Given the description of an element on the screen output the (x, y) to click on. 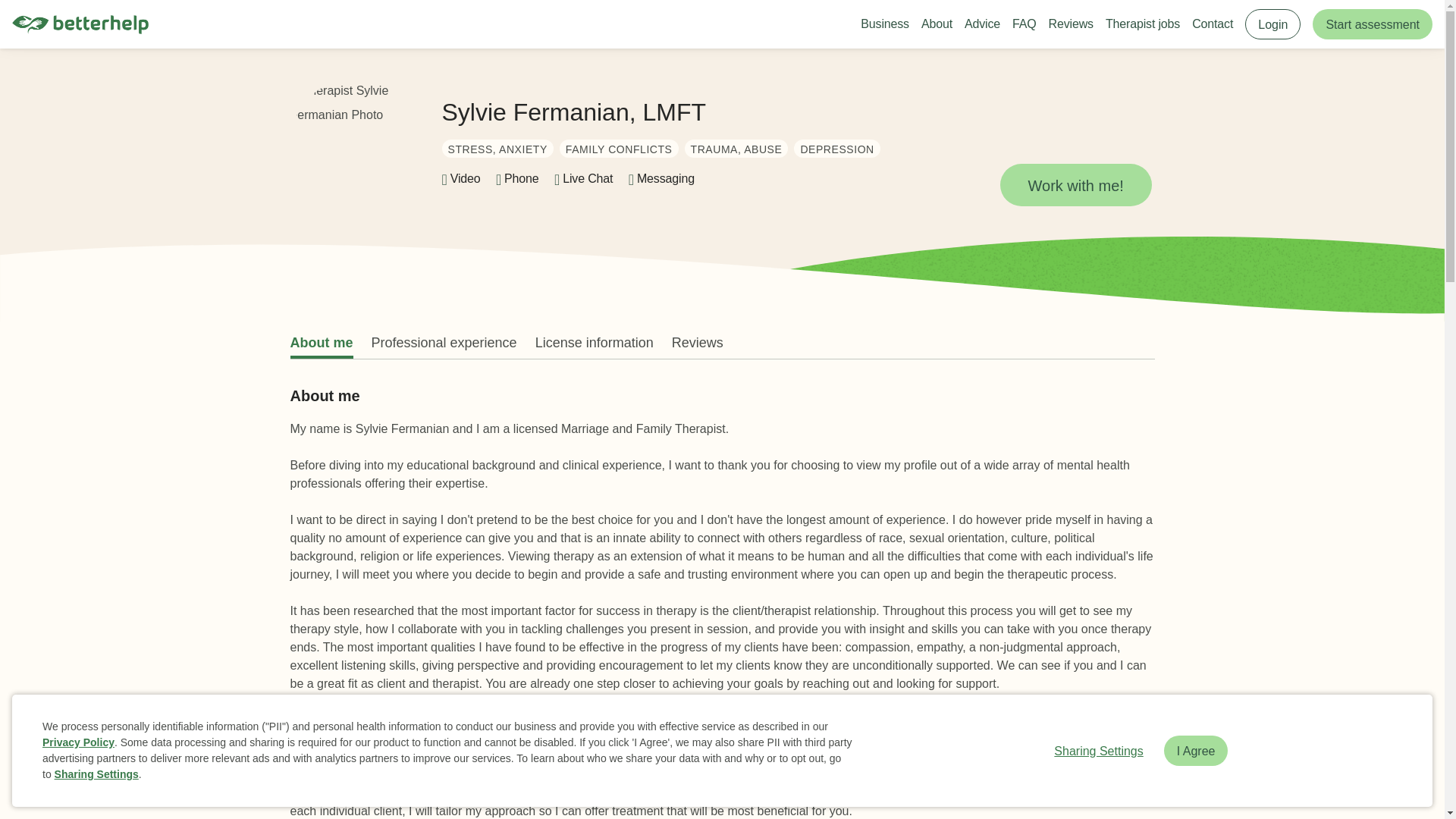
Therapist jobs (1142, 24)
Login (1272, 24)
I Agree (1195, 750)
Professional experience (443, 342)
Start assessment (1372, 24)
About me (320, 342)
Reviews (697, 342)
Business (884, 24)
Sharing Settings (96, 774)
Sharing Settings (1098, 750)
